Given the description of an element on the screen output the (x, y) to click on. 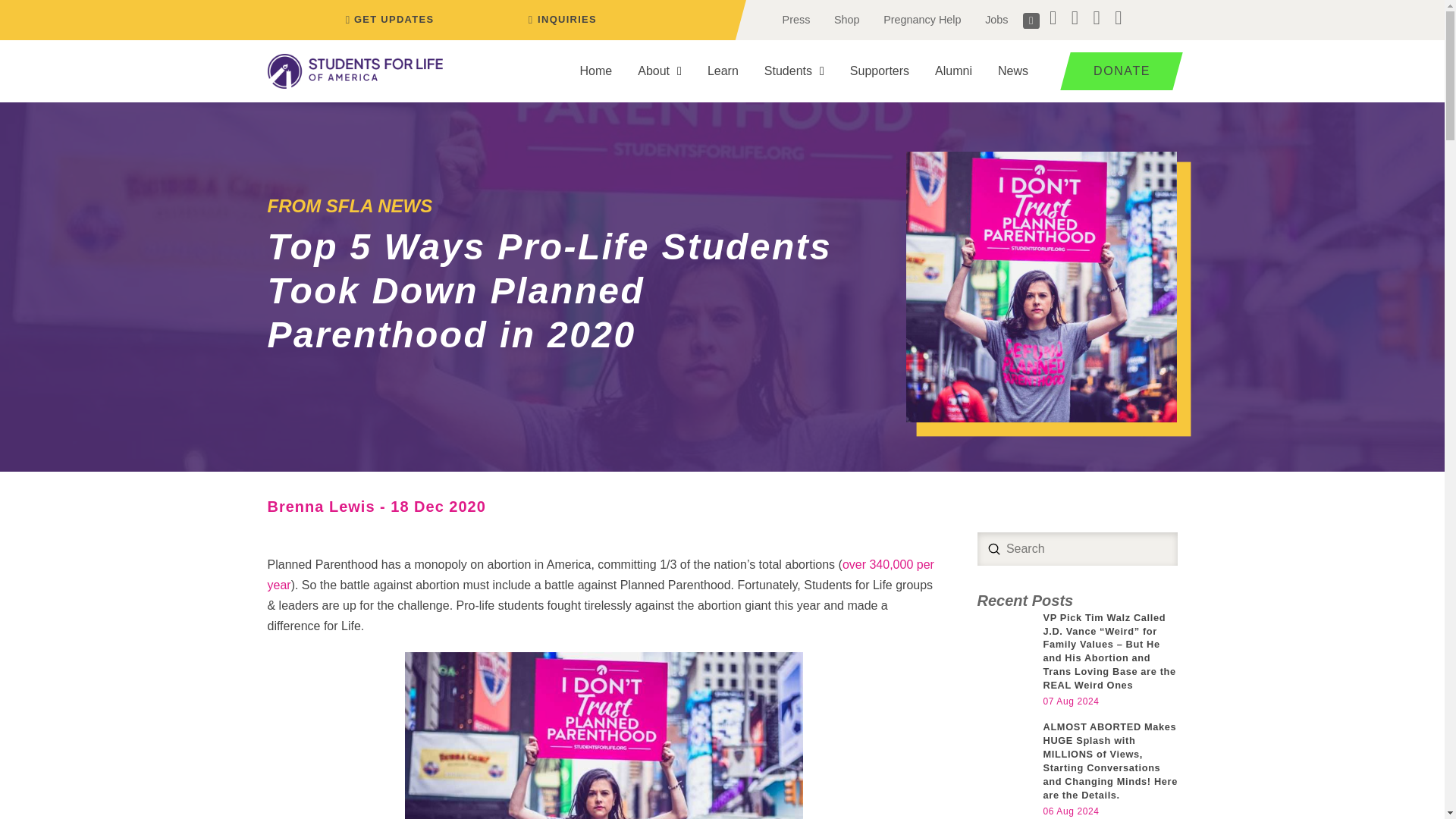
Learn (722, 71)
GET UPDATES (386, 20)
Pregnancy Help (921, 20)
Jobs (996, 20)
About (659, 71)
Press (796, 20)
Students (794, 71)
Supporters (879, 71)
Home (596, 71)
DONATE (1115, 71)
over 340,000 per year (599, 574)
Shop (846, 20)
Alumni (953, 71)
News (1013, 71)
